Given the description of an element on the screen output the (x, y) to click on. 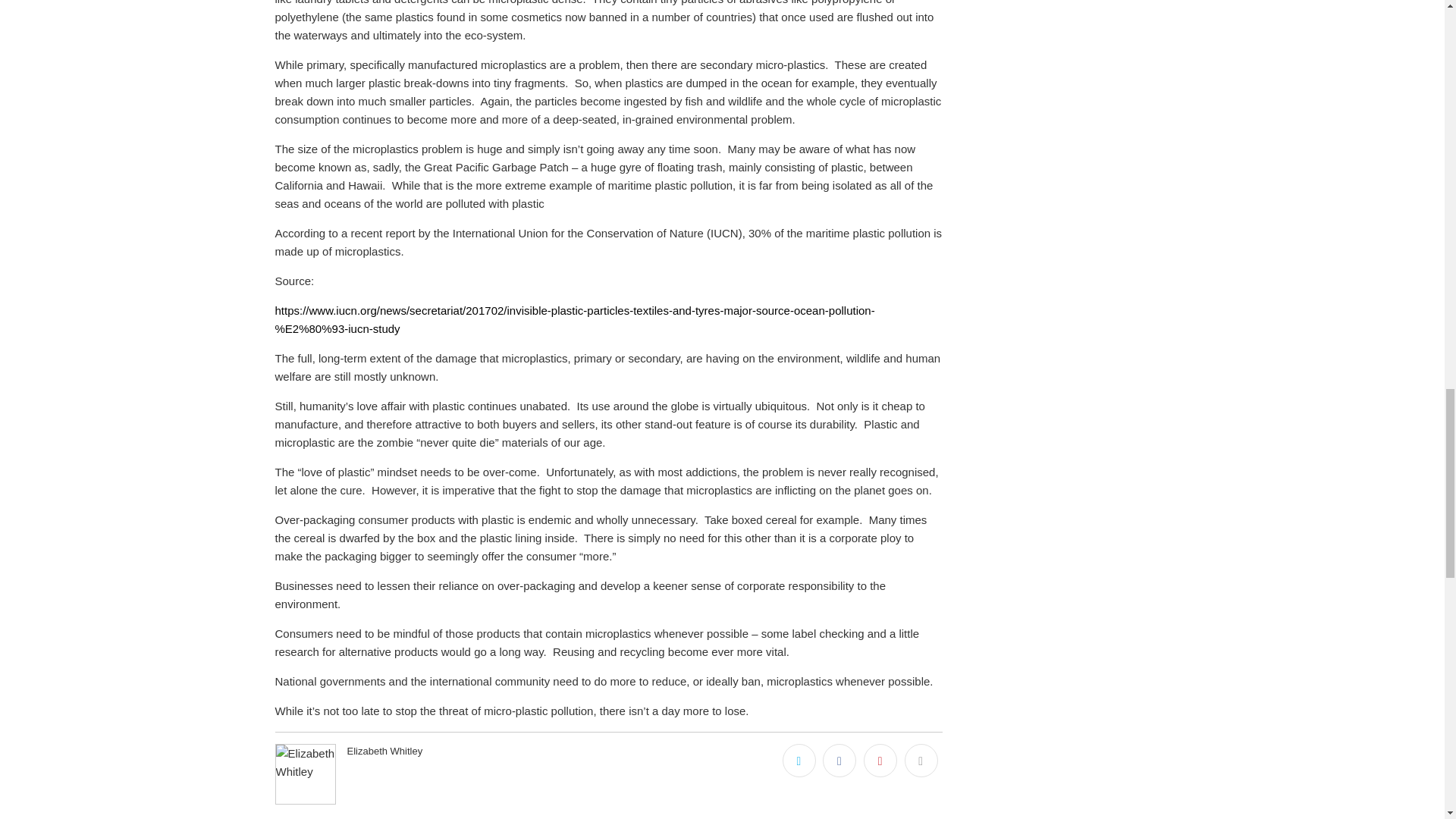
Share this on Twitter (799, 760)
Email this to a friend (920, 760)
Share this on Facebook (839, 760)
Share this on Pinterest (879, 760)
